Given the description of an element on the screen output the (x, y) to click on. 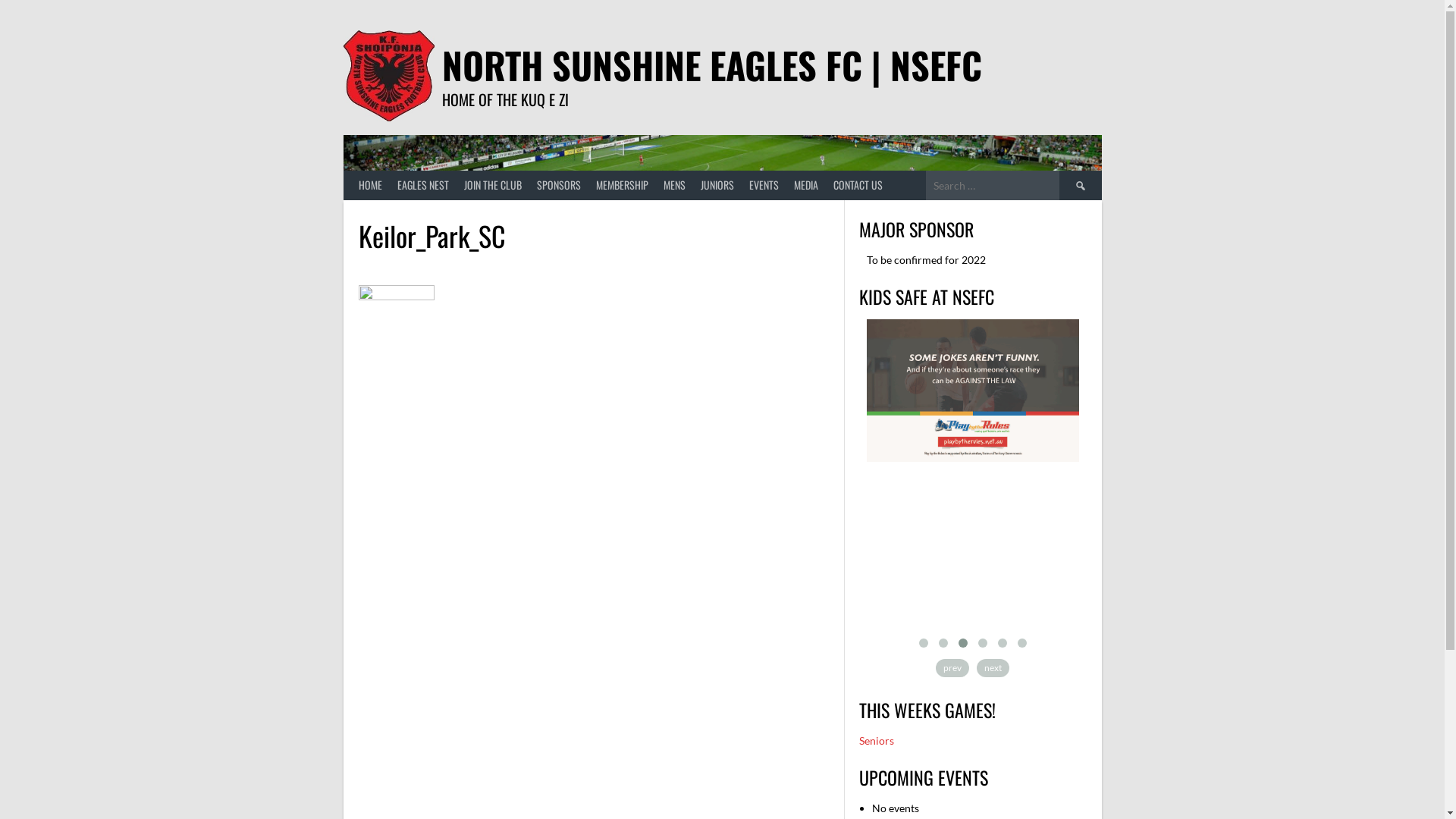
EVENTS Element type: text (763, 185)
SPONSORS Element type: text (558, 185)
EAGLES NEST Element type: text (422, 185)
Seniors Element type: text (875, 740)
CONTACT US Element type: text (857, 185)
MEDIA Element type: text (805, 185)
Search Element type: hover (1079, 185)
HOME Element type: text (369, 185)
Skip to content Element type: text (0, 0)
JUNIORS Element type: text (717, 185)
NORTH SUNSHINE EAGLES FC | NSEFC Element type: text (711, 64)
JOIN THE CLUB Element type: text (492, 185)
MEMBERSHIP Element type: text (621, 185)
MENS Element type: text (673, 185)
